Given the description of an element on the screen output the (x, y) to click on. 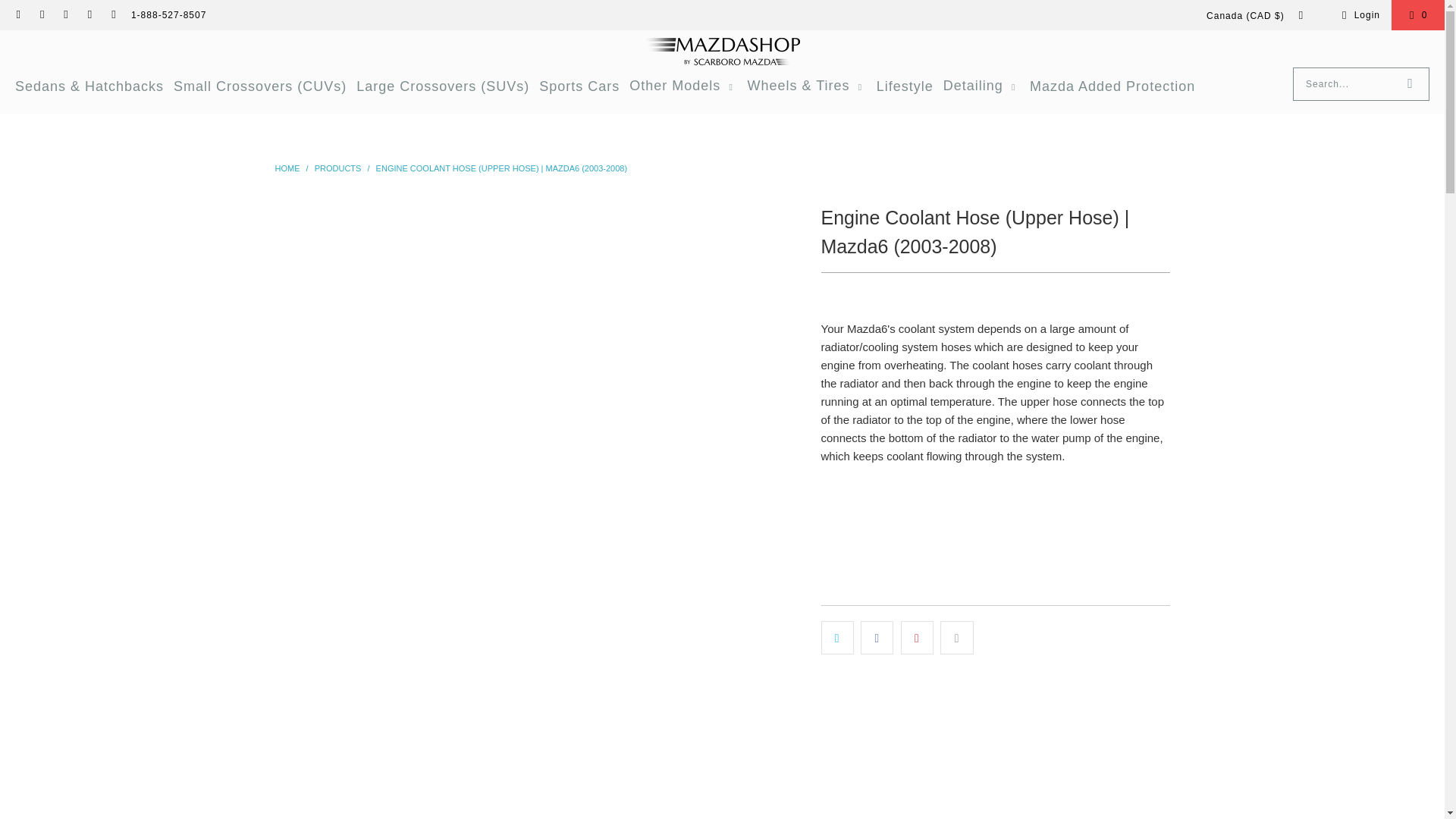
Share this on Twitter (837, 637)
Products (339, 167)
Share this on Facebook (876, 637)
My Account  (1358, 14)
Email this to a friend (956, 637)
Share this on Pinterest (917, 637)
